Given the description of an element on the screen output the (x, y) to click on. 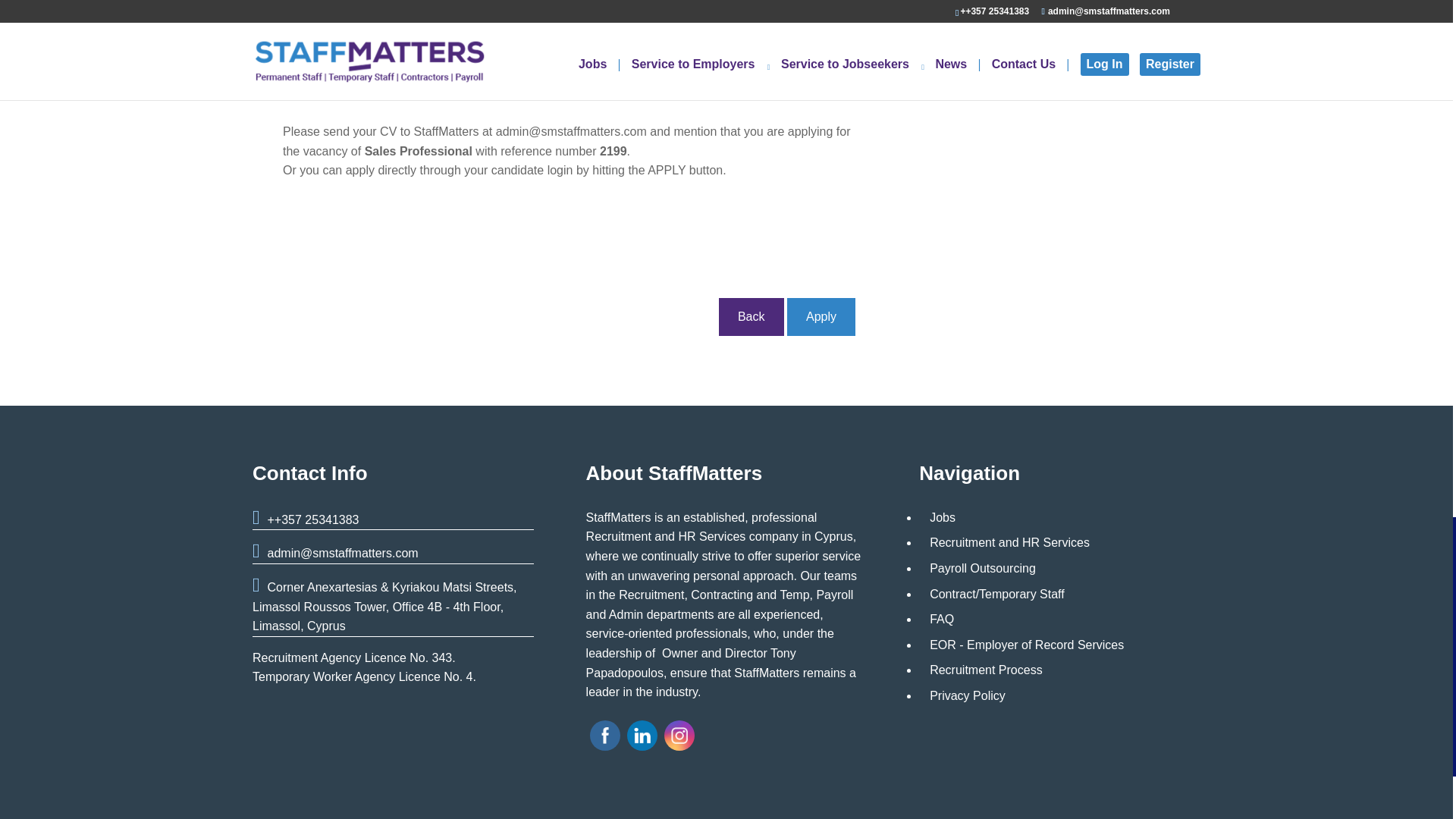
LinkedIn (641, 735)
Apply (821, 316)
Back (751, 316)
Facebook (604, 735)
Instagram (679, 735)
